Given the description of an element on the screen output the (x, y) to click on. 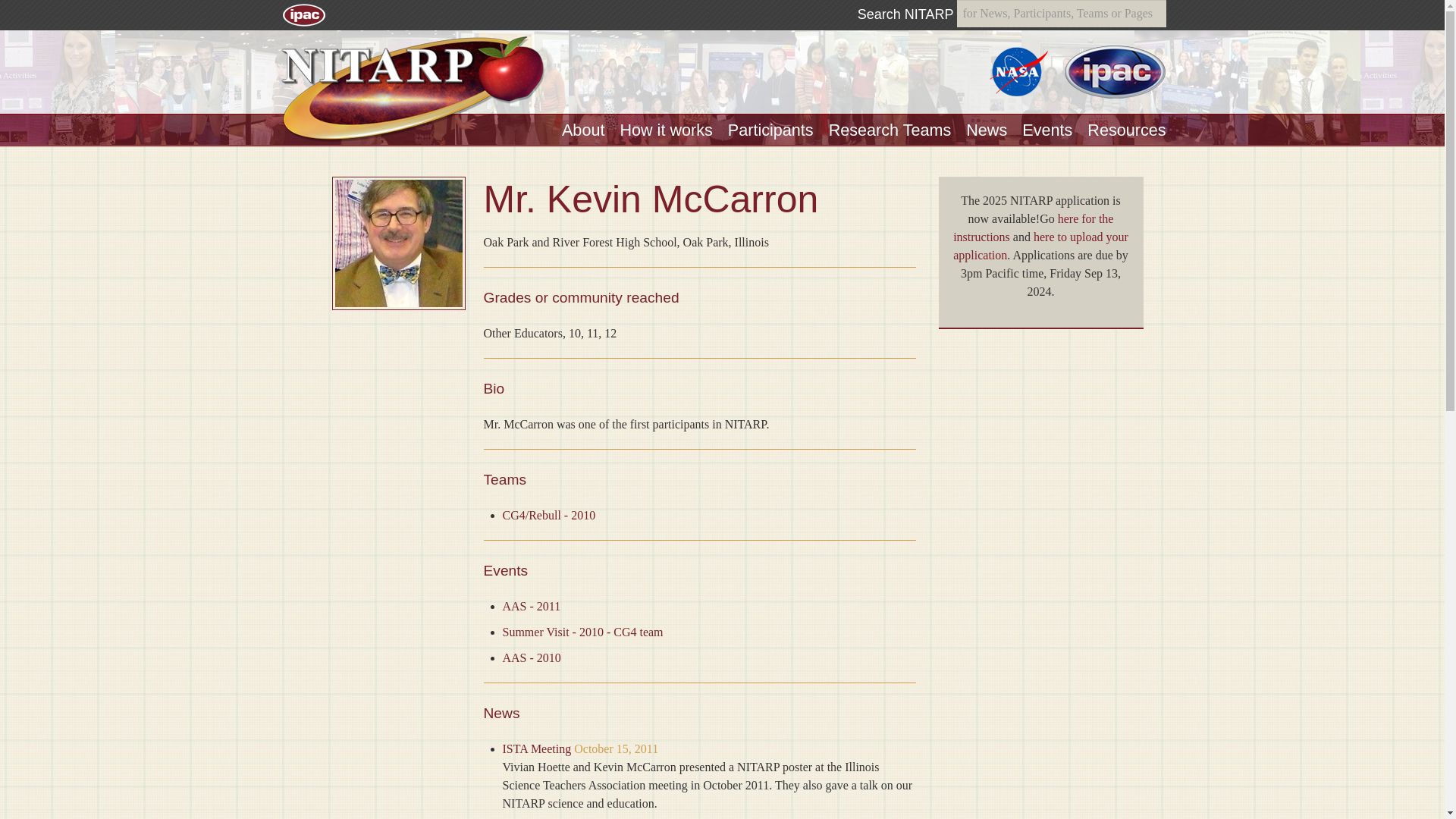
Summer Visit - 2010 - CG4 team (582, 631)
News (986, 129)
Participants (770, 129)
Resources (1126, 129)
here for the instructions (1033, 227)
here to upload your application (1040, 245)
AAS - 2011 (531, 605)
Search NITARP for News, Participants, Teams or Pages (1061, 13)
Search NITARP for News, Participants, Teams or Pages (905, 14)
How it works (665, 129)
